Given the description of an element on the screen output the (x, y) to click on. 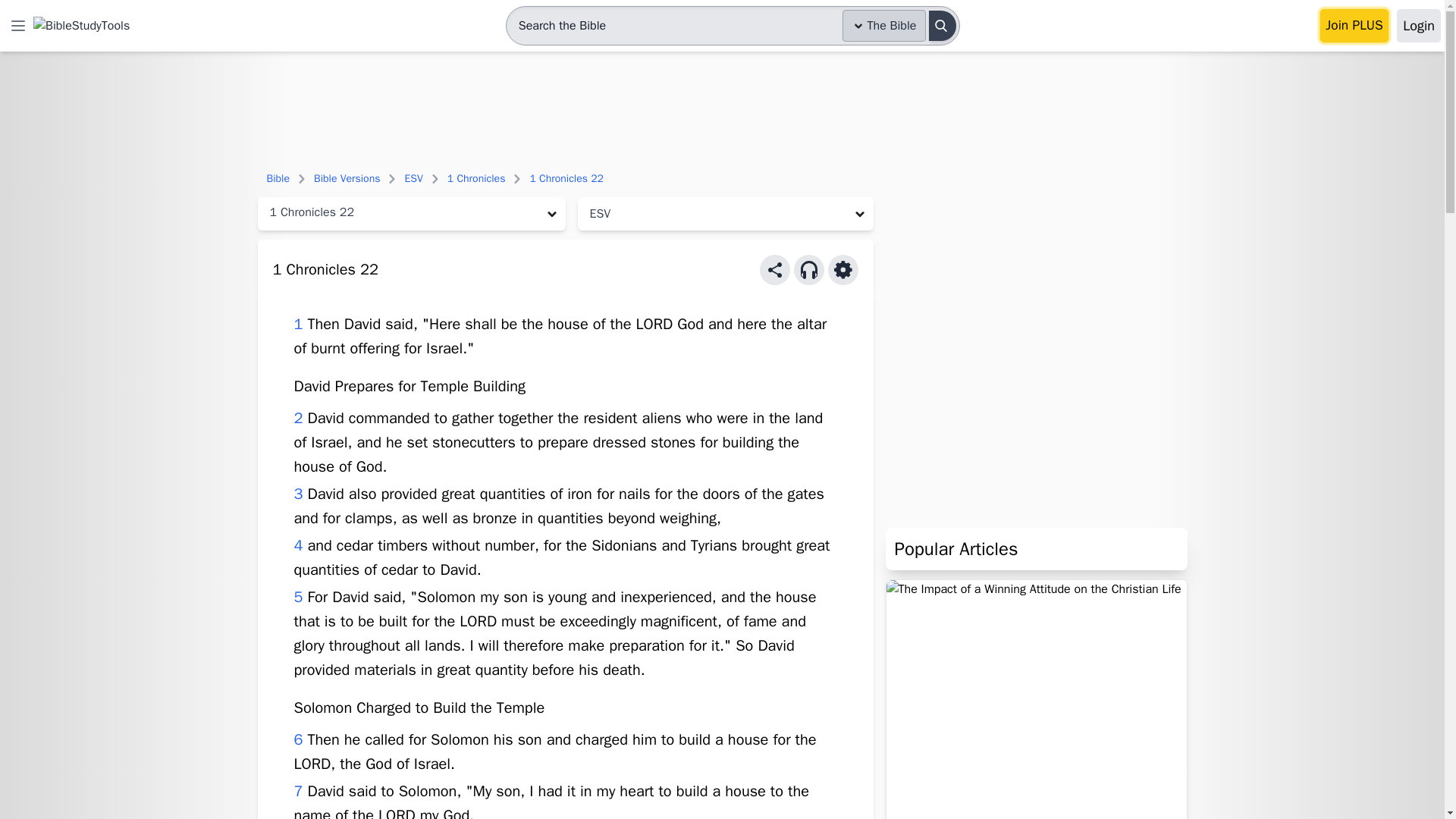
The Bible (884, 25)
Scripture Settings (843, 269)
Join PLUS (1354, 25)
Login (1418, 25)
Audio Bible (808, 269)
